Given the description of an element on the screen output the (x, y) to click on. 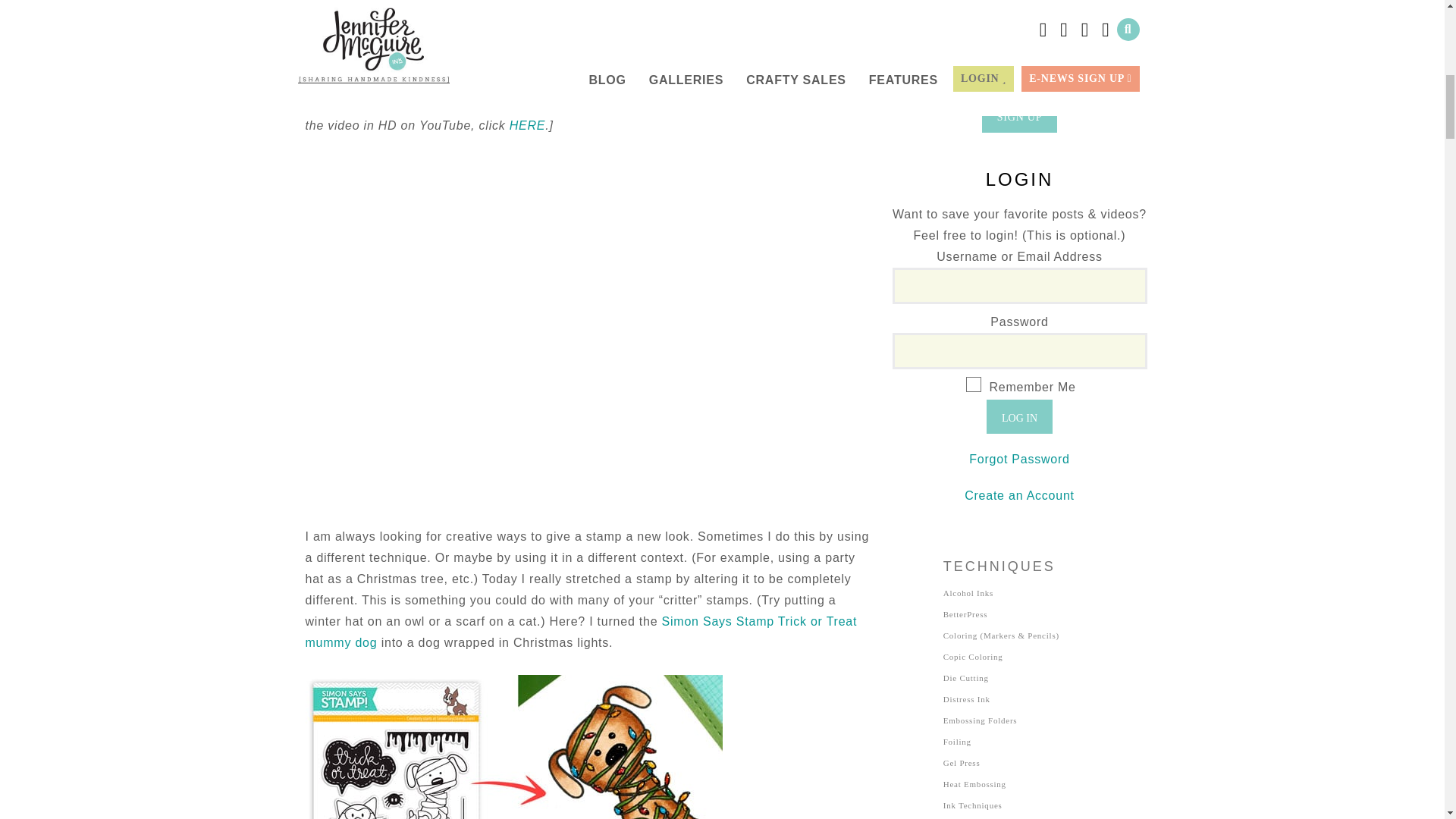
Altering Stamped Images Video by Jennifer McGuire Ink (513, 33)
Log In (1019, 416)
Altering Stamped Images Video by Jennifer McGuire Ink (513, 746)
forever (973, 384)
